Given the description of an element on the screen output the (x, y) to click on. 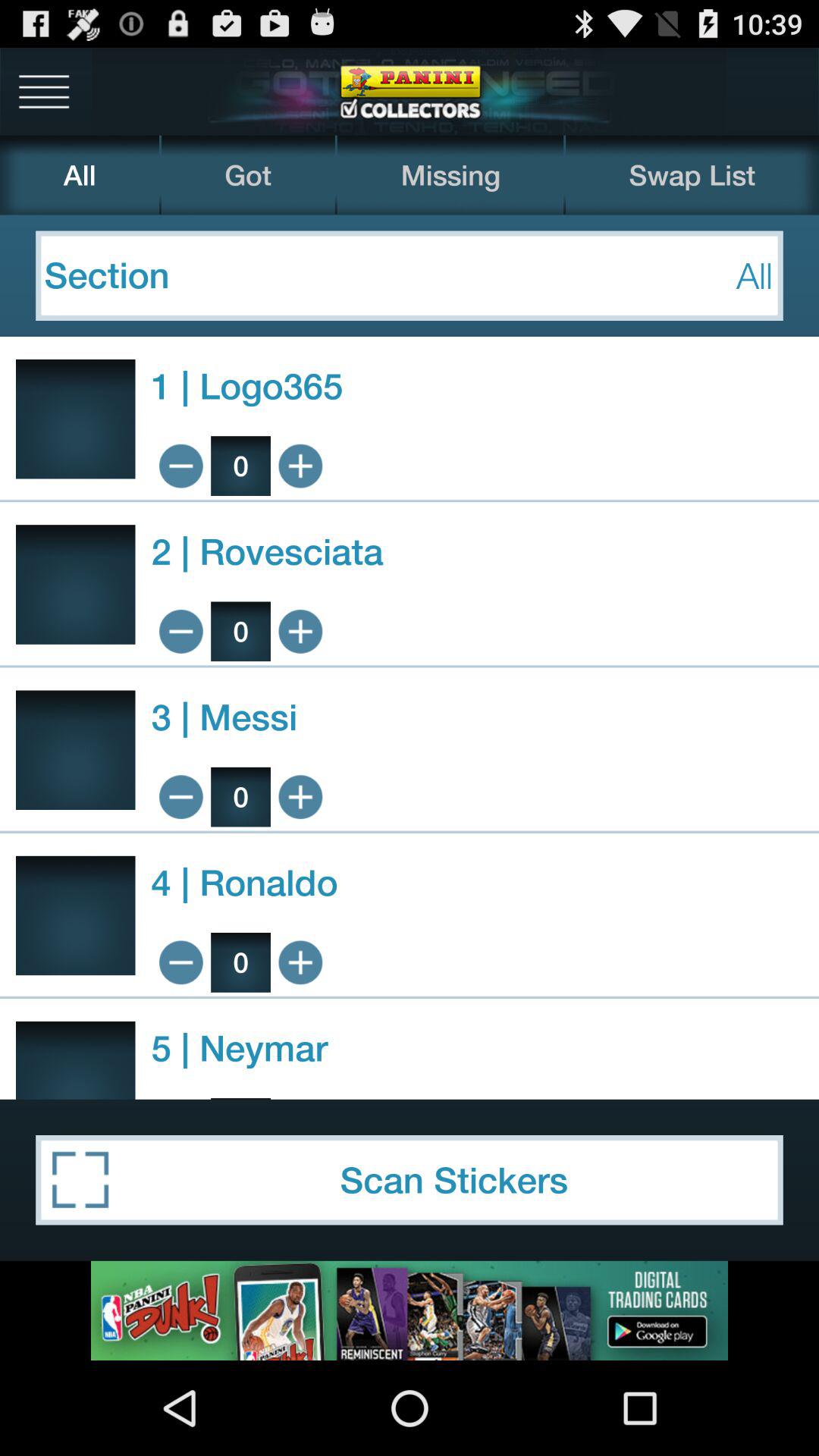
add sticker (300, 631)
